Given the description of an element on the screen output the (x, y) to click on. 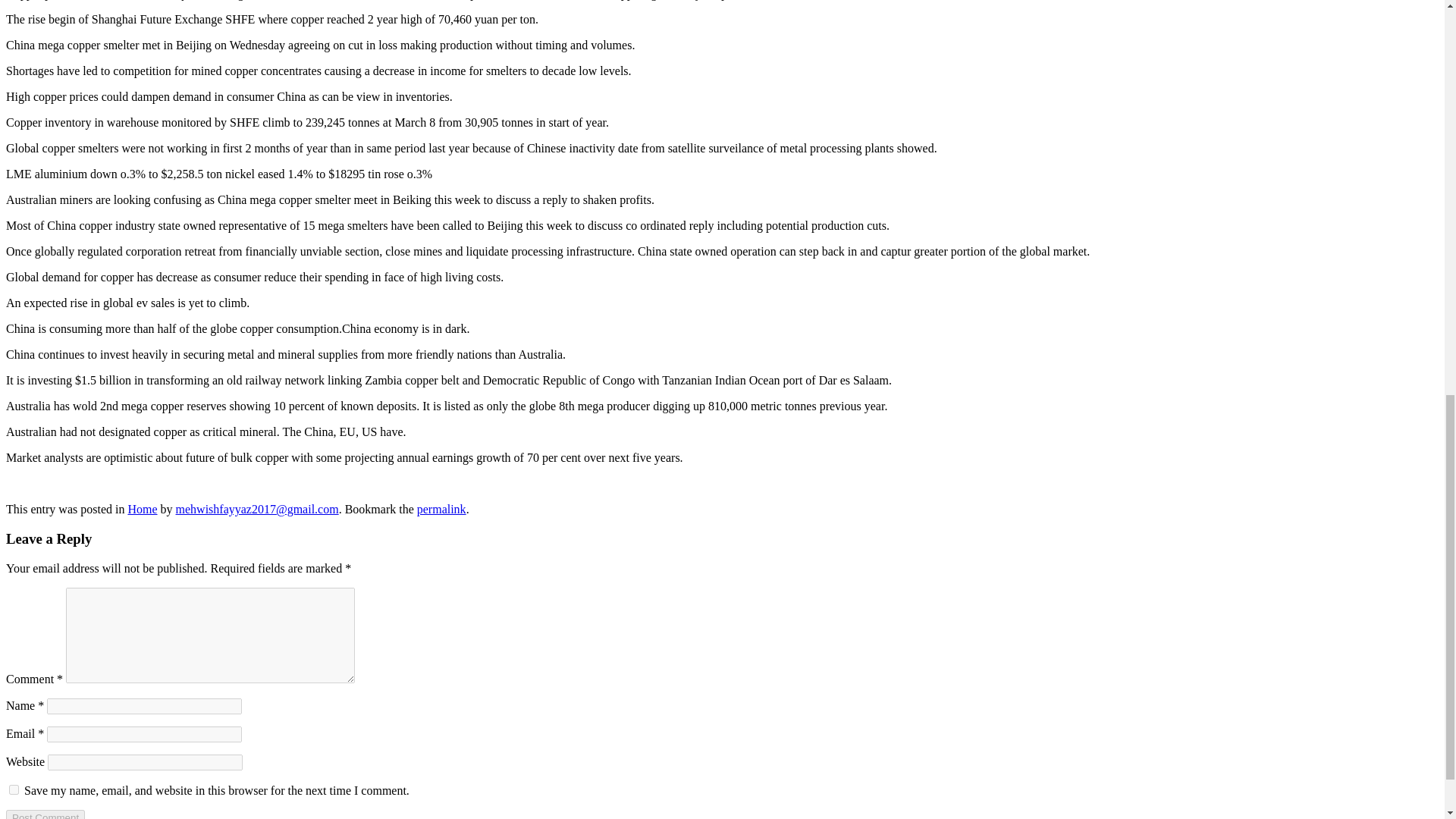
Post Comment (44, 814)
yes (13, 789)
